Given the description of an element on the screen output the (x, y) to click on. 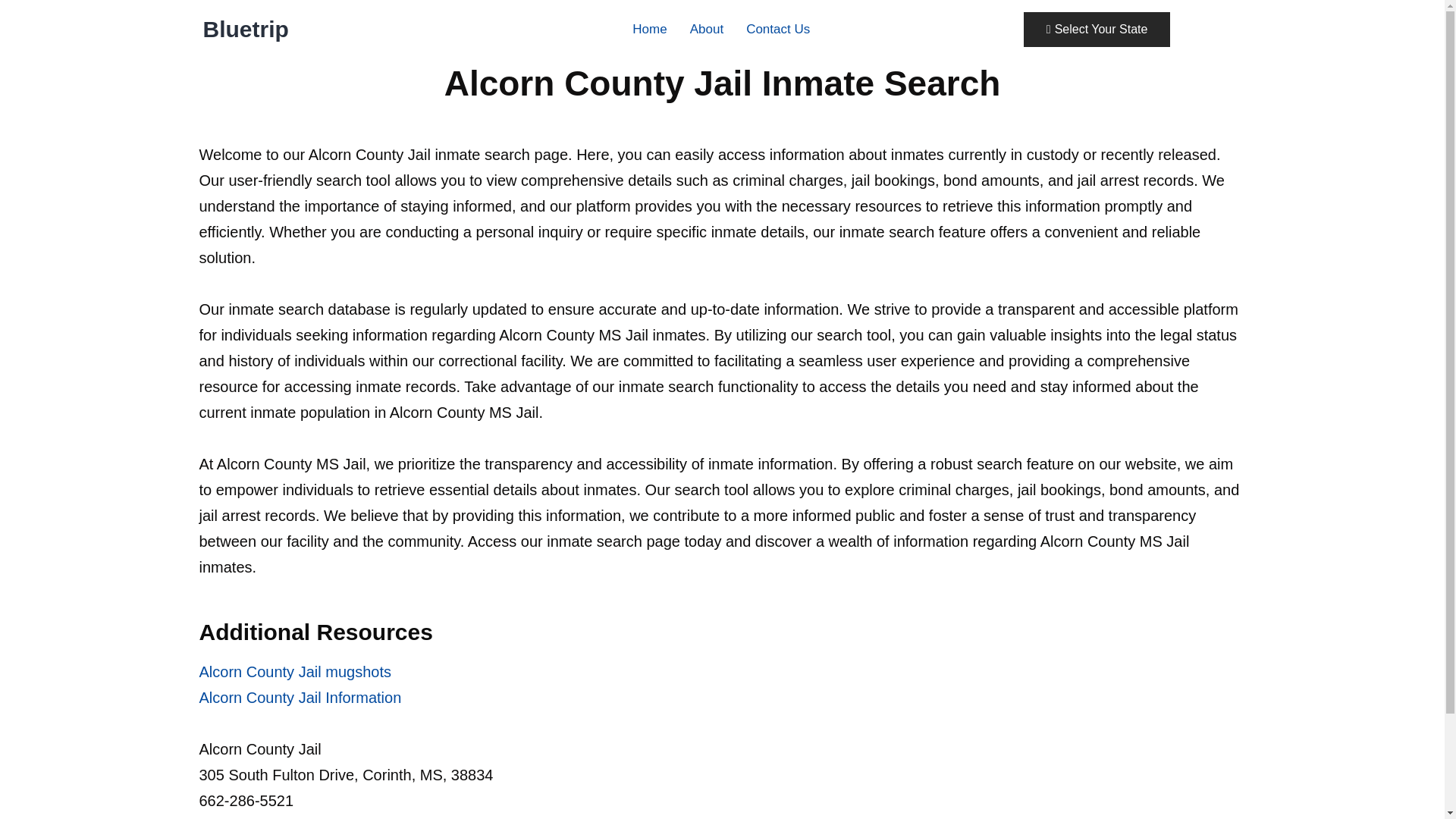
Contact Us (778, 28)
Bluetrip (245, 28)
Home (649, 28)
About (706, 28)
Alcorn County Jail Information (299, 697)
Select Your State (1096, 29)
Alcorn County Jail mugshots (294, 671)
